Given the description of an element on the screen output the (x, y) to click on. 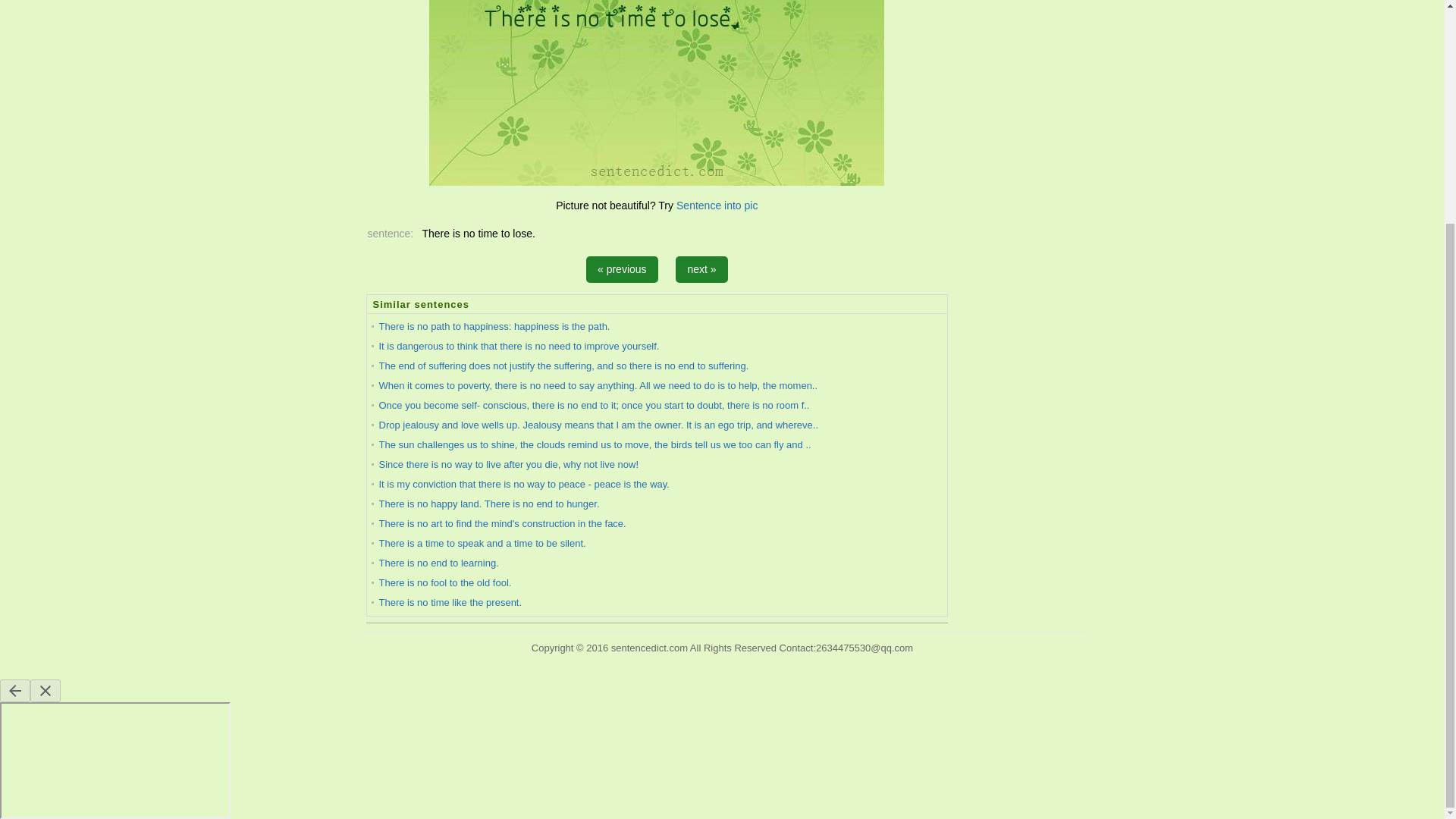
There is no end to learning. (438, 562)
There is a time to speak and a time to be silent. (482, 542)
There is no path to happiness: happiness is the path. (494, 326)
There is no art to find the mind's construction in the face. (502, 523)
